Given the description of an element on the screen output the (x, y) to click on. 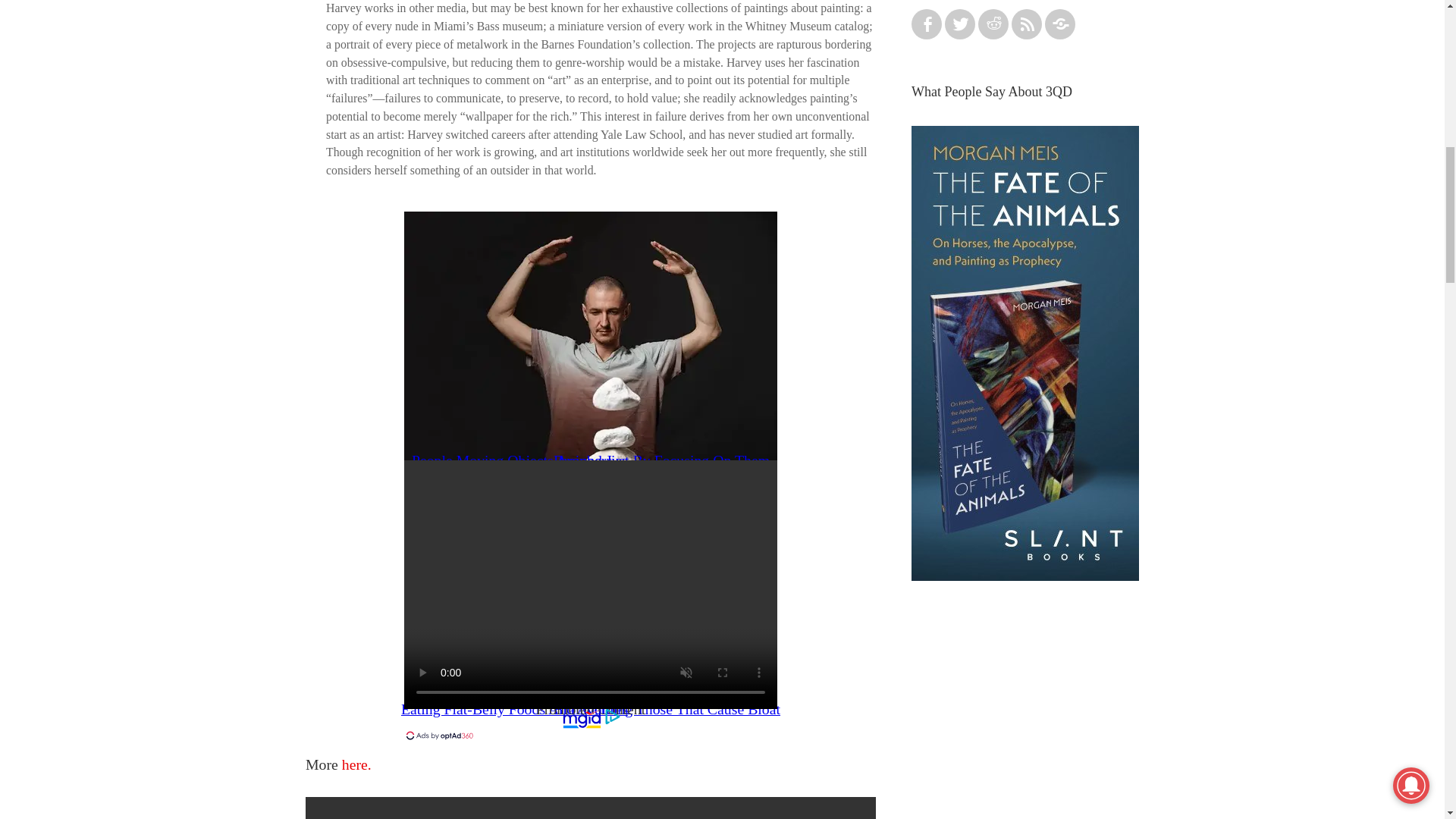
3rd party ad content (1024, 716)
here. (356, 764)
